Given the description of an element on the screen output the (x, y) to click on. 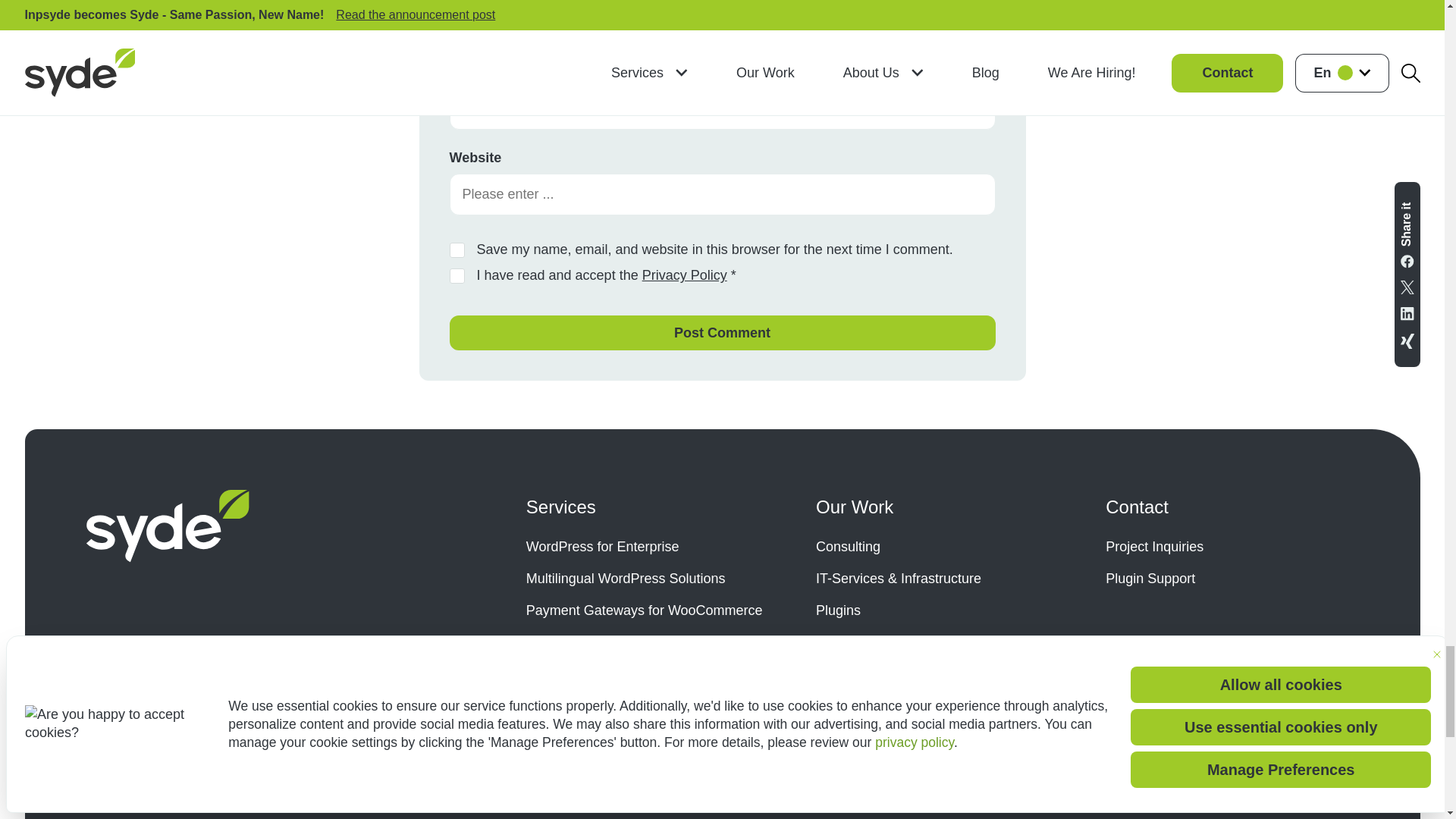
Post Comment (721, 332)
